Given the description of an element on the screen output the (x, y) to click on. 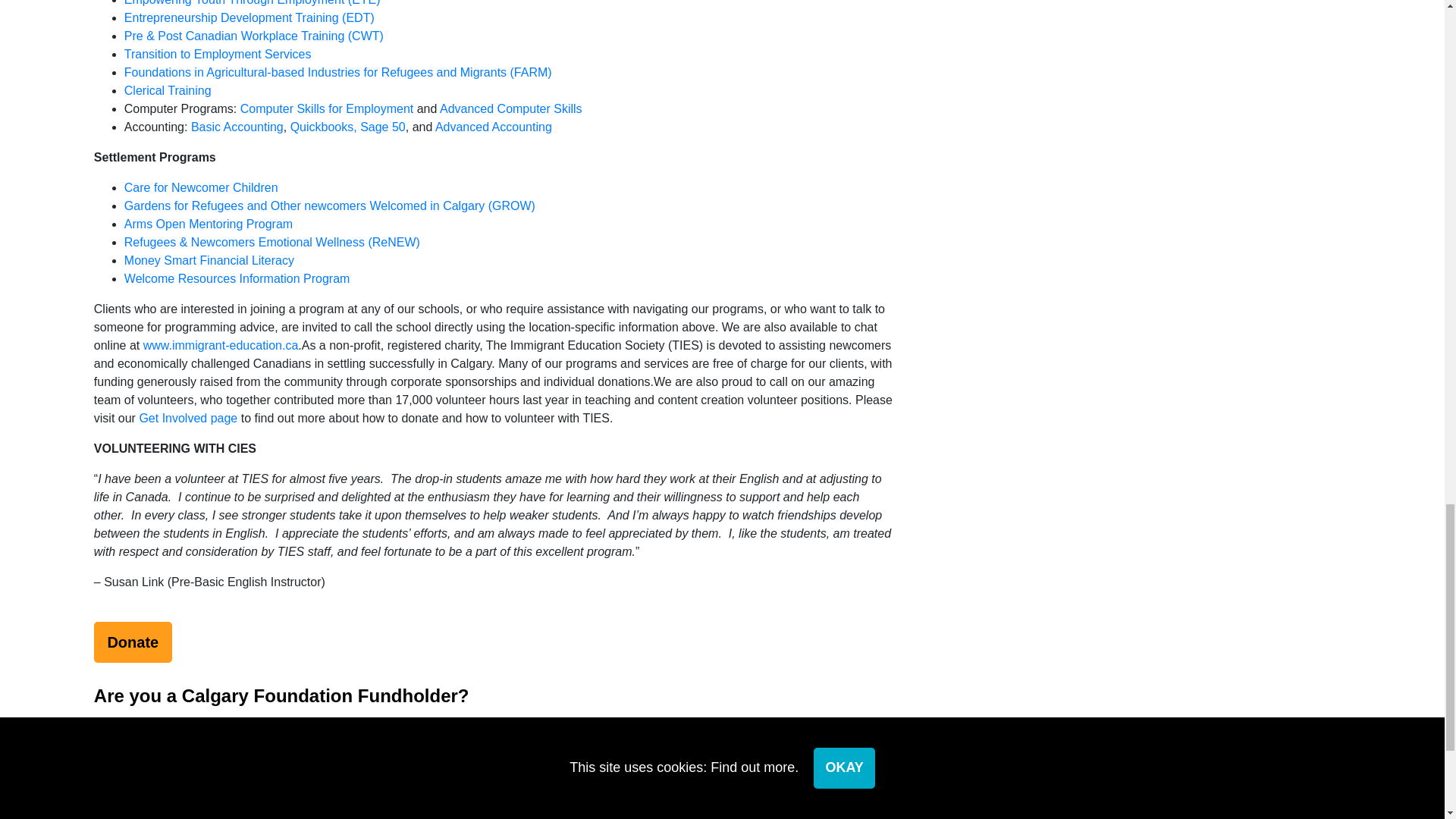
Clerical Training (167, 90)
Welcome Resources Information Program (236, 278)
Quickbooks, (322, 126)
Arms Open Mentoring Program (207, 223)
Advanced Accounting (493, 126)
Transition to Employment Services (217, 53)
Money Smart Financial Literacy (208, 259)
Computer Skills for Employment (326, 108)
Basic Accounting (236, 126)
Care for Newcomer Children (200, 187)
Sage 50 (382, 126)
Advanced Computer Skills (510, 108)
